Given the description of an element on the screen output the (x, y) to click on. 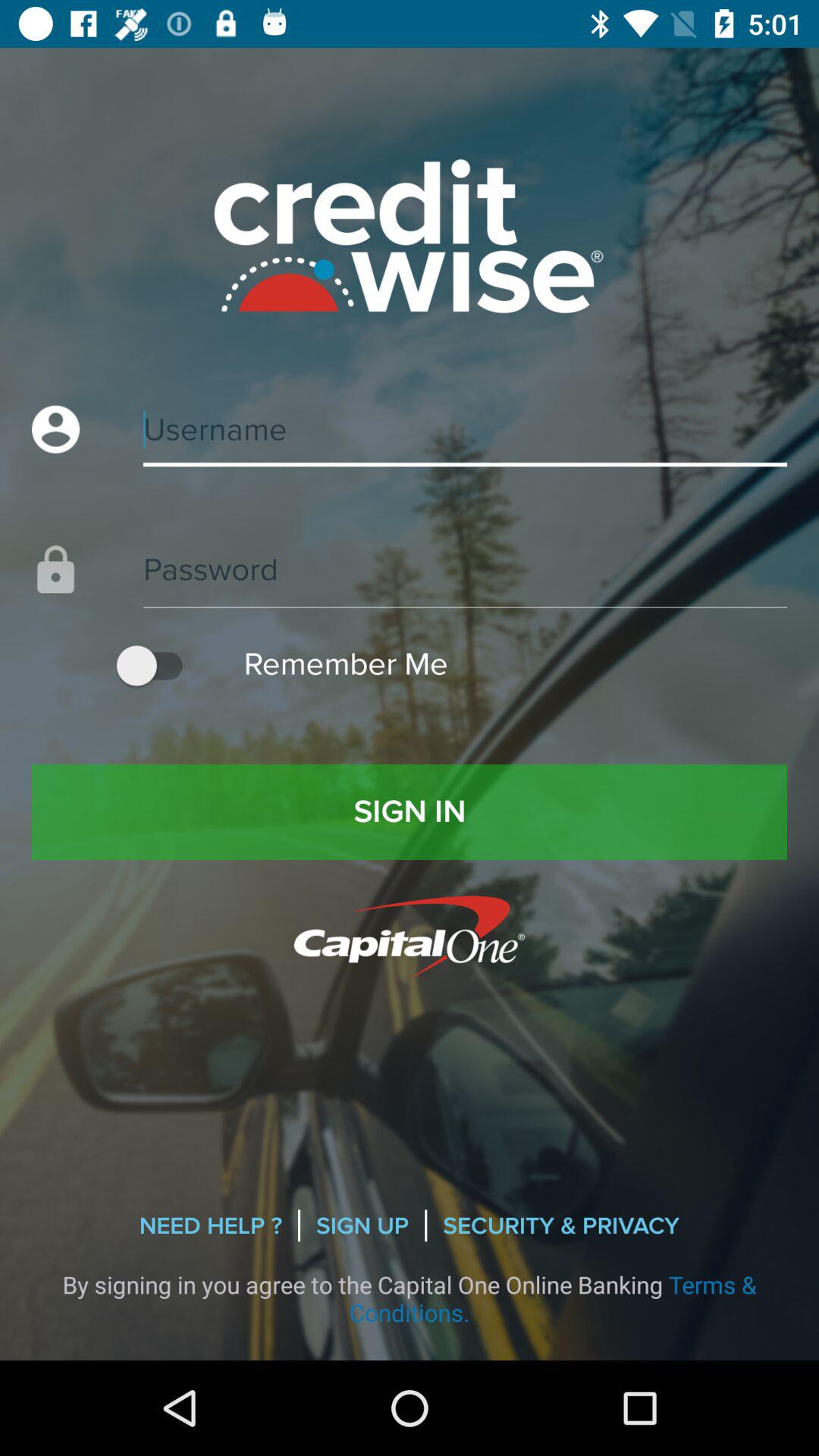
swipe to the by signing in item (409, 1298)
